Given the description of an element on the screen output the (x, y) to click on. 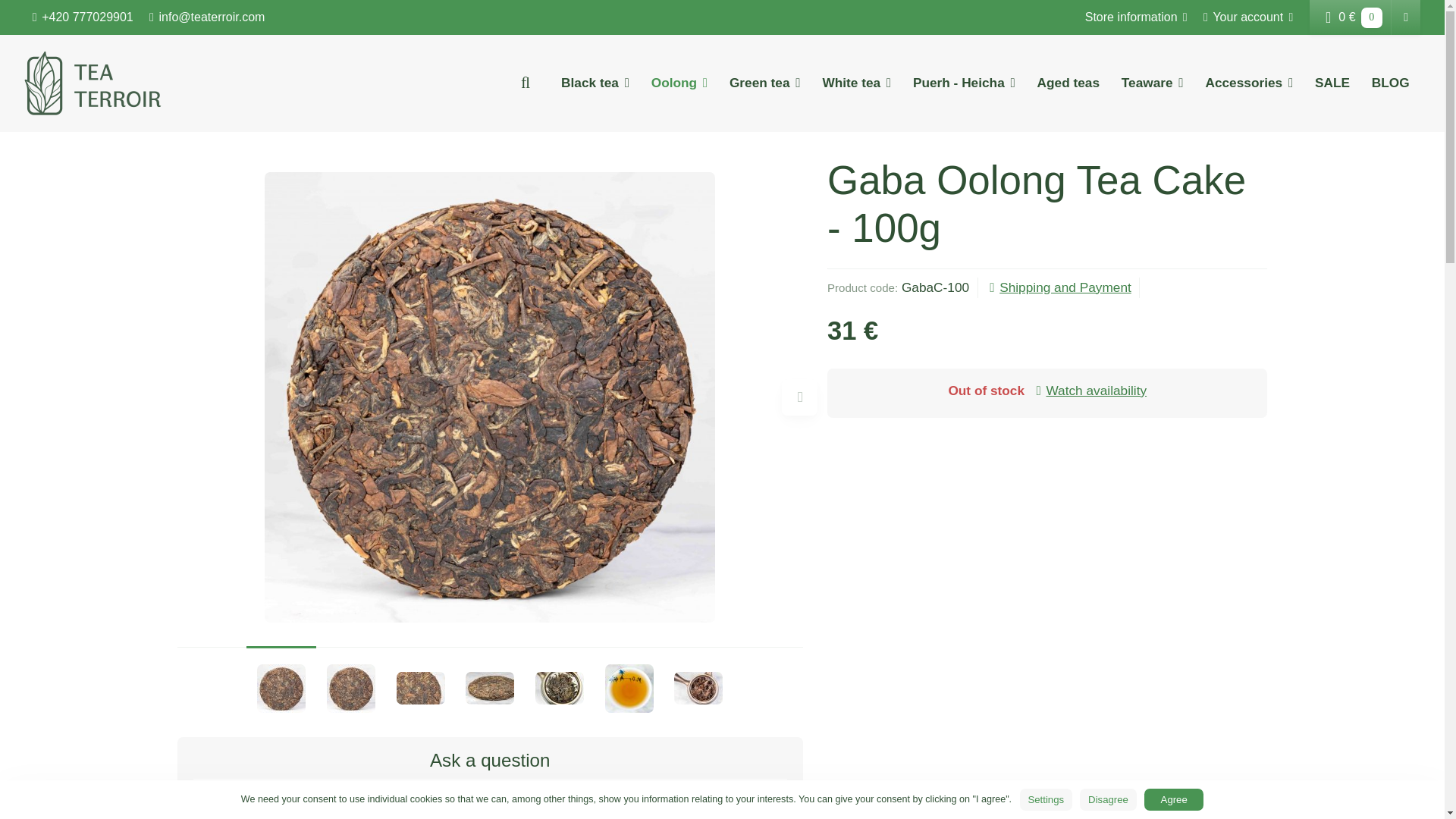
Home (92, 82)
Email (207, 17)
Search (524, 82)
Search (524, 82)
Store information (1136, 17)
Phone (82, 17)
Go to Cart (1350, 17)
Your account (1248, 17)
Black tea (595, 82)
0 item (1371, 17)
